Given the description of an element on the screen output the (x, y) to click on. 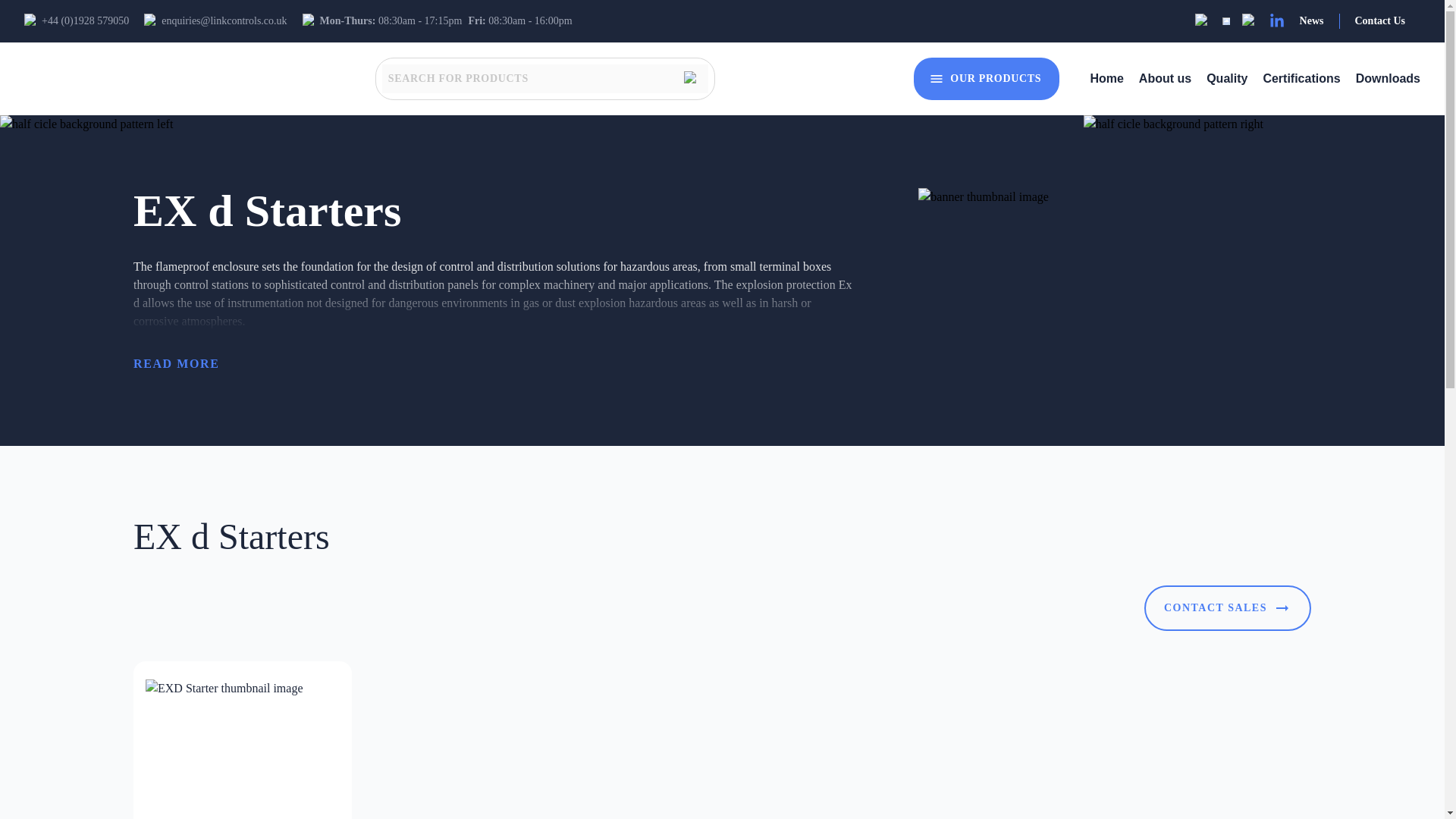
CONTACT SALES (1227, 607)
READ MORE (176, 363)
